Given the description of an element on the screen output the (x, y) to click on. 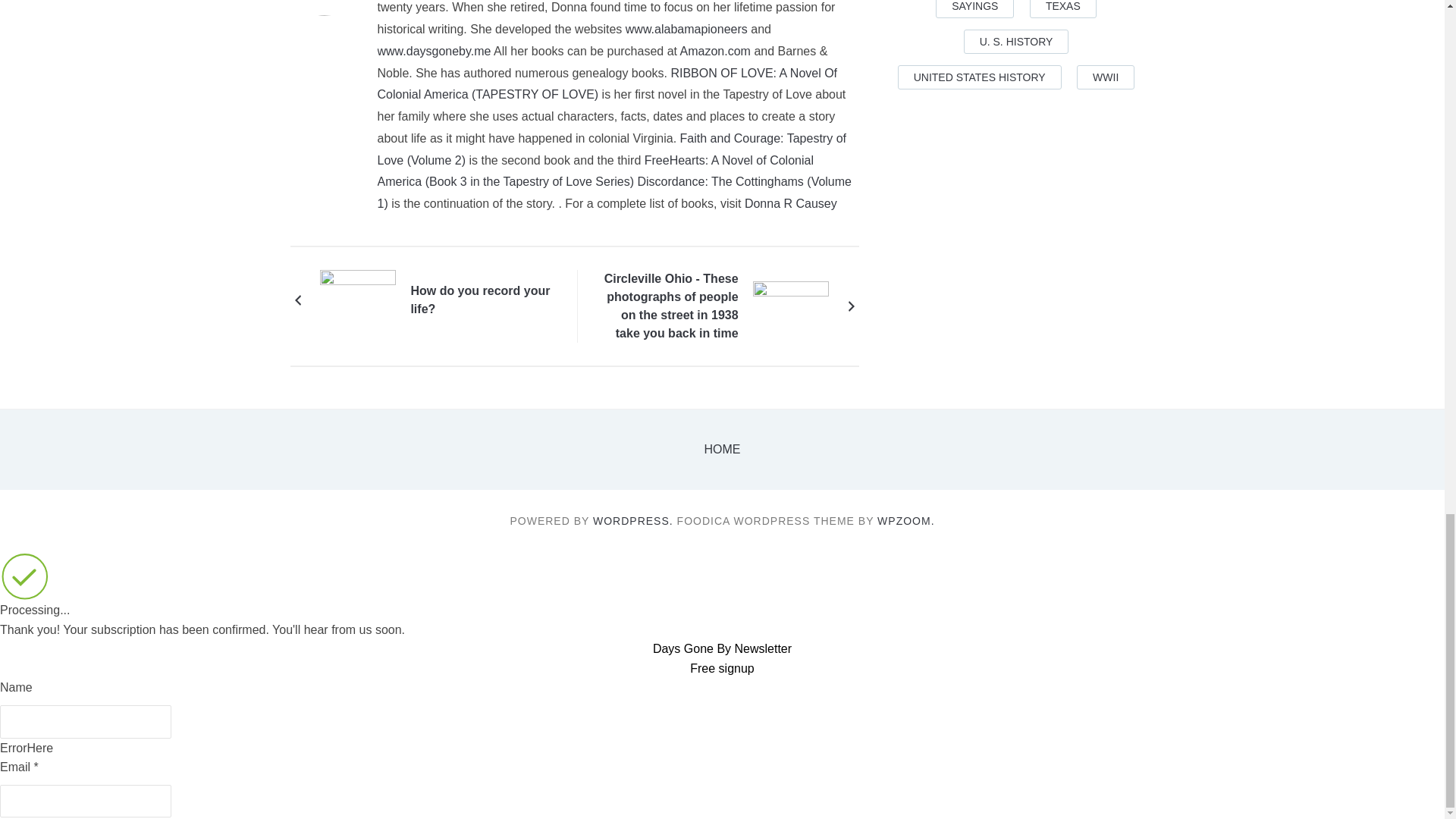
Donna R Causey (790, 203)
Amazon.com (715, 51)
How do you record your life? (480, 299)
www.daysgoneby.me (434, 51)
How do you record your life? (357, 298)
www.alabamapioneers (687, 29)
How do you record your life? (480, 299)
